Given the description of an element on the screen output the (x, y) to click on. 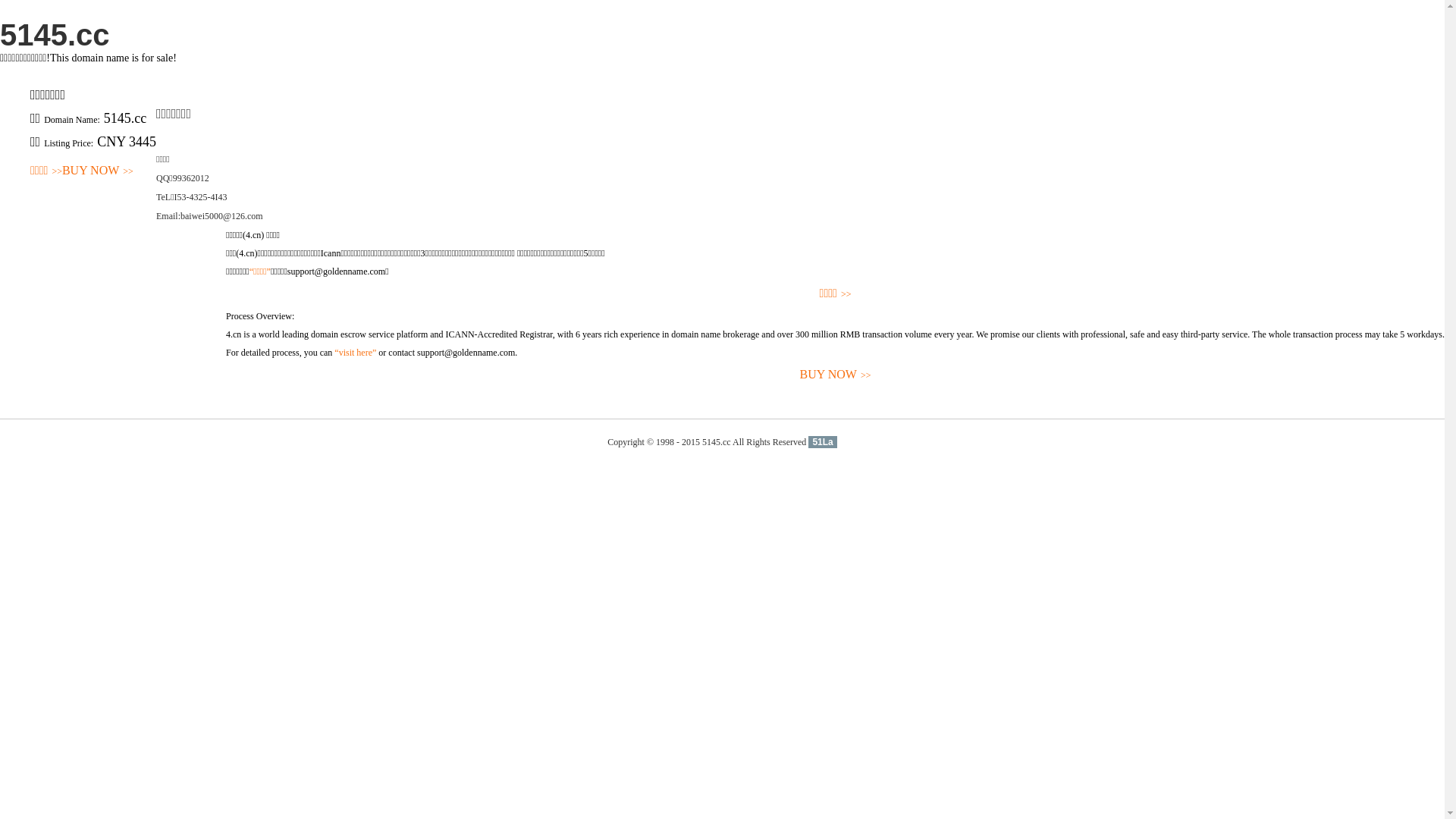
BUY NOW>> Element type: text (834, 374)
BUY NOW>> Element type: text (97, 170)
51La Element type: text (822, 441)
